Given the description of an element on the screen output the (x, y) to click on. 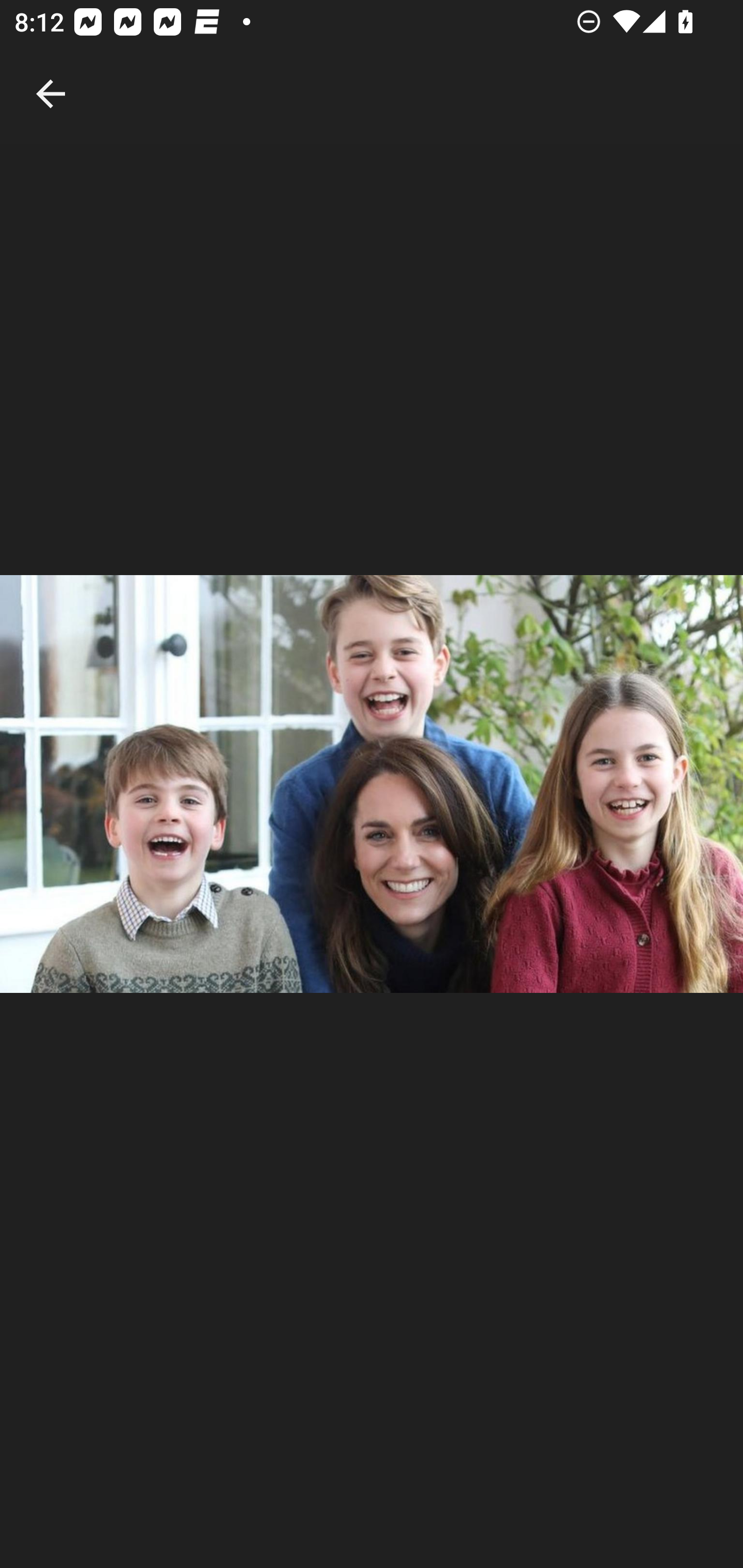
Back (50, 72)
